Given the description of an element on the screen output the (x, y) to click on. 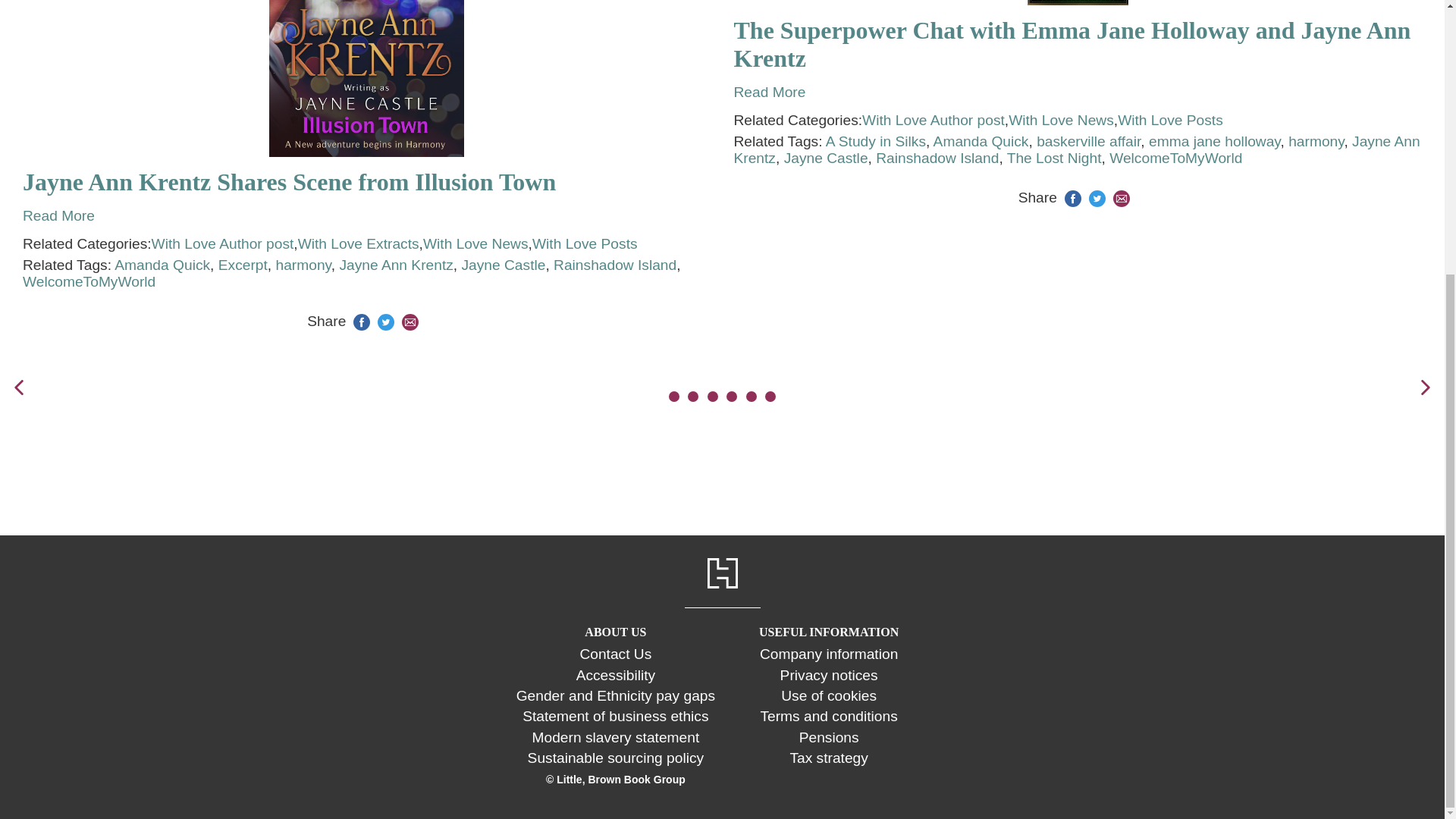
Amanda Quick (162, 264)
Rainshadow Island (615, 264)
harmony (303, 264)
Read More (58, 215)
With Love Extracts (358, 243)
With Love Author post (222, 243)
With Love News (475, 243)
Excerpt (242, 264)
Right Arrow Right arrow icon (1425, 387)
Hachette Logo Large H Initial (721, 572)
Jayne Ann Krentz (395, 264)
Jayne Castle (502, 264)
Jayne Ann Krentz Shares Scene from Illusion Town (367, 182)
Left Arrow Left arrow icon (17, 387)
With Love Posts (584, 243)
